Given the description of an element on the screen output the (x, y) to click on. 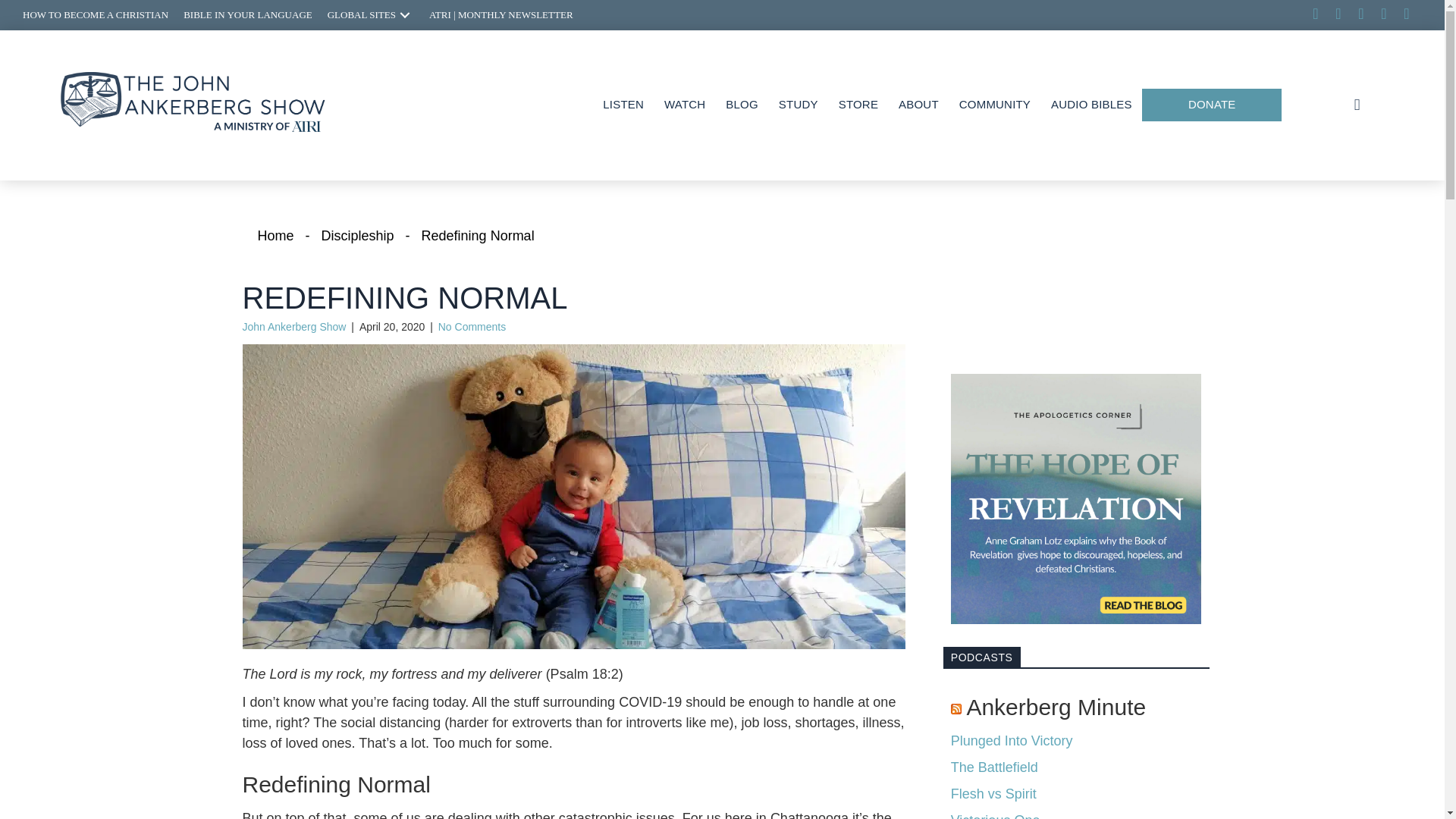
BIBLE IN YOUR LANGUAGE (248, 15)
WATCH (684, 104)
GLOBAL SITES (371, 15)
HOW TO BECOME A CHRISTIAN (95, 15)
LISTEN (622, 104)
